Given the description of an element on the screen output the (x, y) to click on. 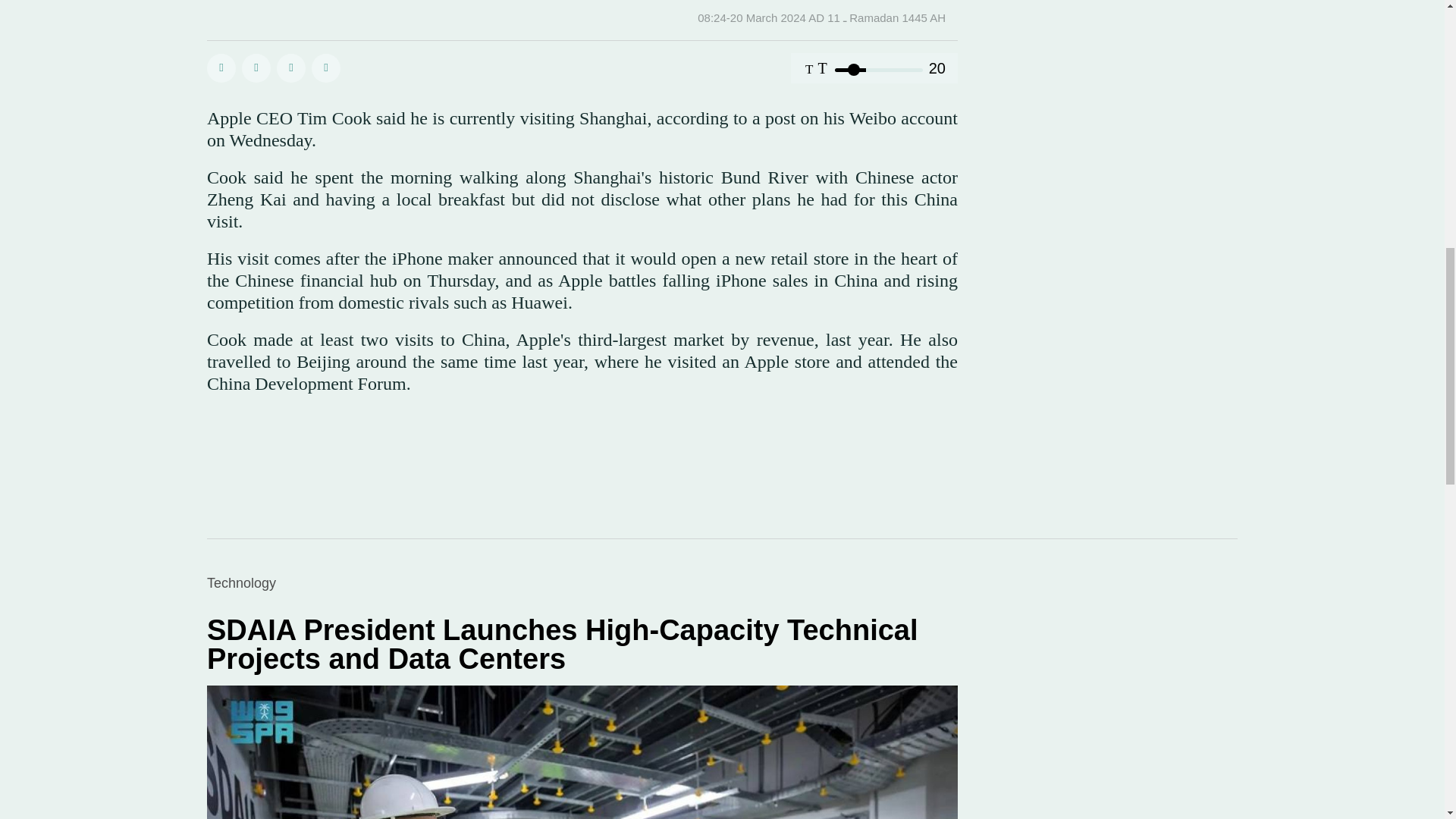
20 (878, 69)
